Given the description of an element on the screen output the (x, y) to click on. 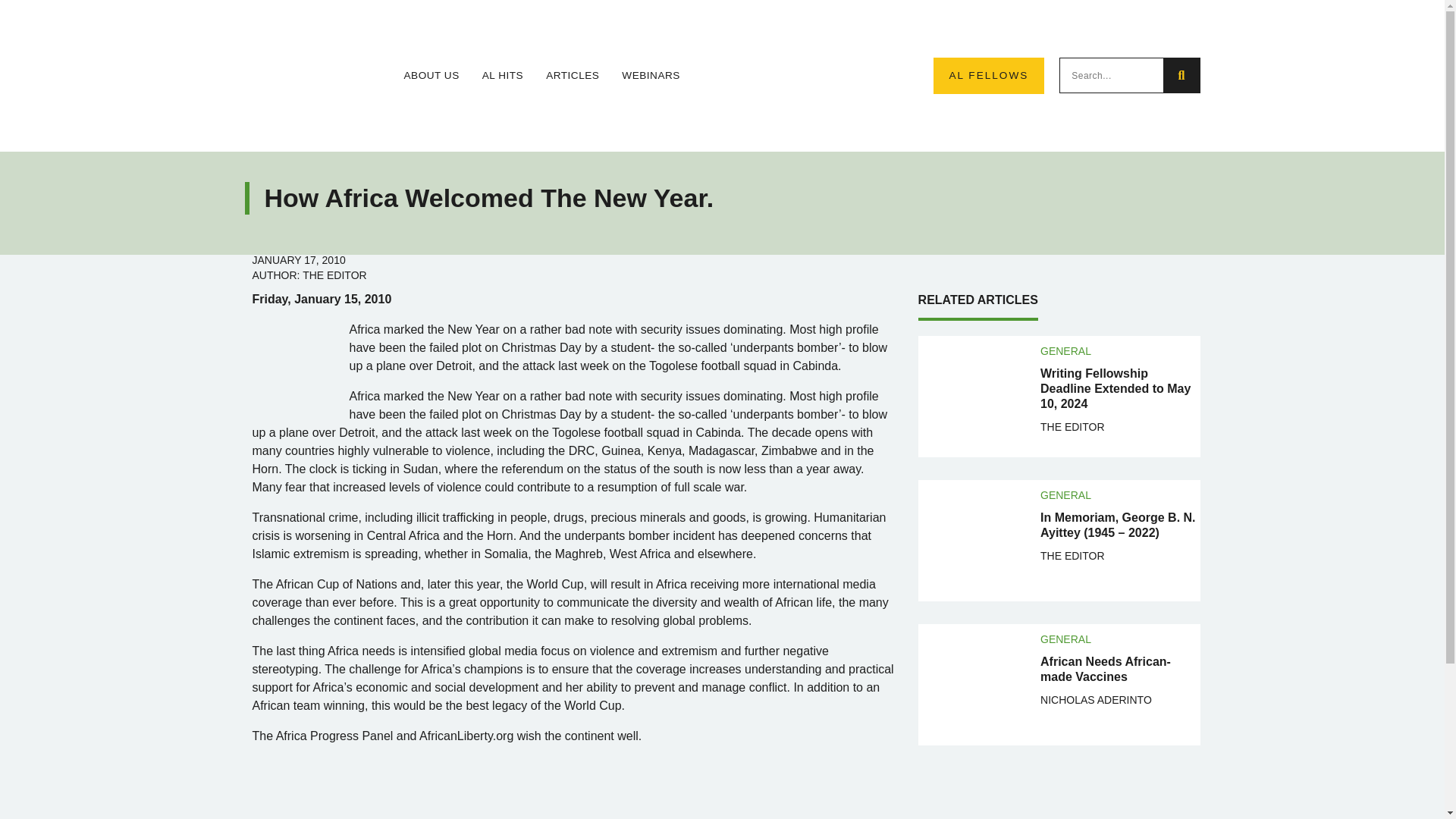
AL HITS (501, 75)
GENERAL (1065, 349)
WEBINARS (650, 75)
JANUARY 17, 2010 (298, 258)
ABOUT US (430, 75)
AL FELLOWS (988, 75)
ARTICLES (572, 75)
AUTHOR: THE EDITOR (308, 273)
